Given the description of an element on the screen output the (x, y) to click on. 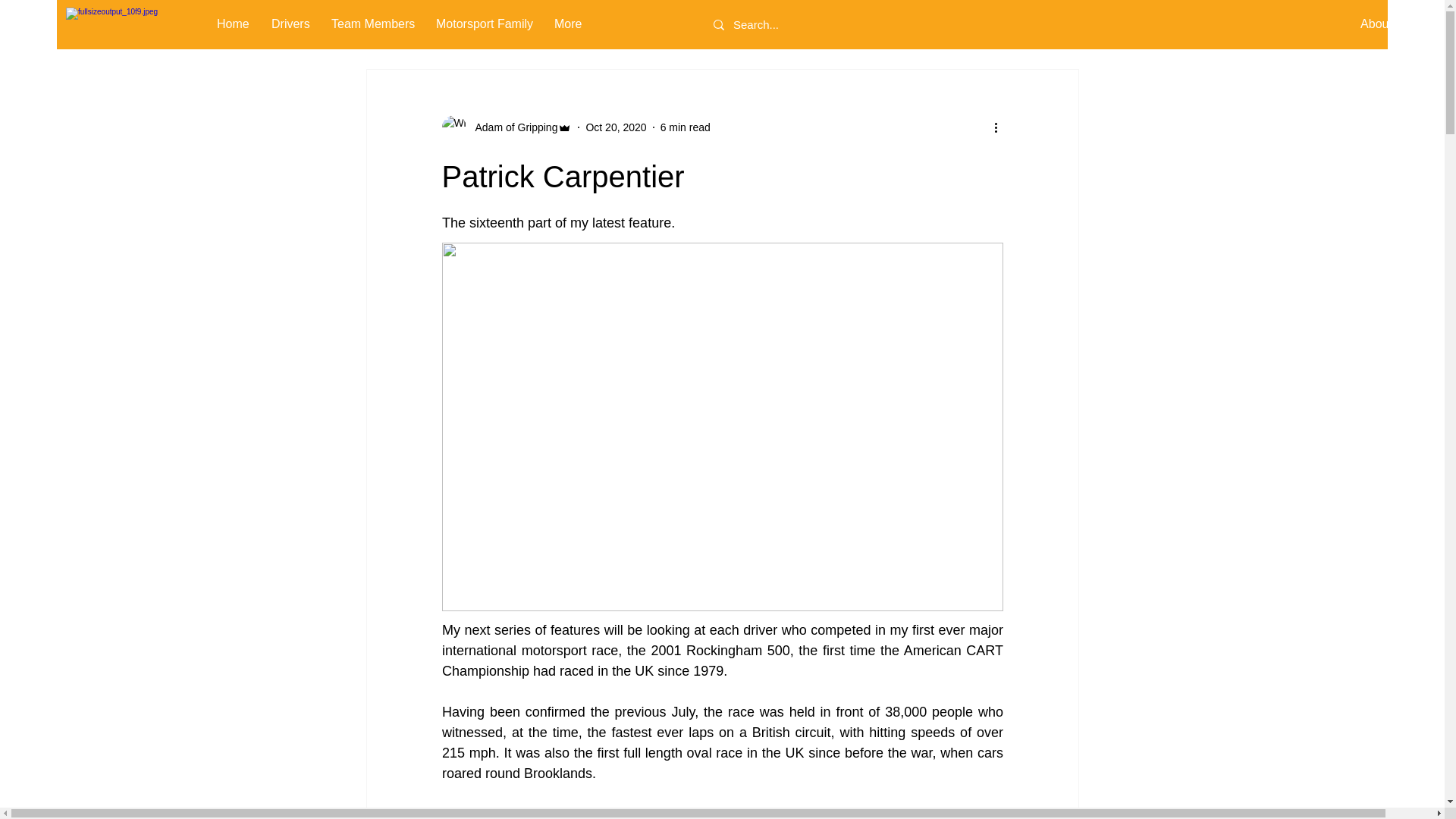
Drivers (290, 24)
Oct 20, 2020 (615, 127)
Adam of Gripping (511, 127)
6 min read (685, 127)
Team Members (372, 24)
Motorsport Family (484, 24)
Adam of Gripping (506, 127)
Home (232, 24)
About (1375, 24)
